Given the description of an element on the screen output the (x, y) to click on. 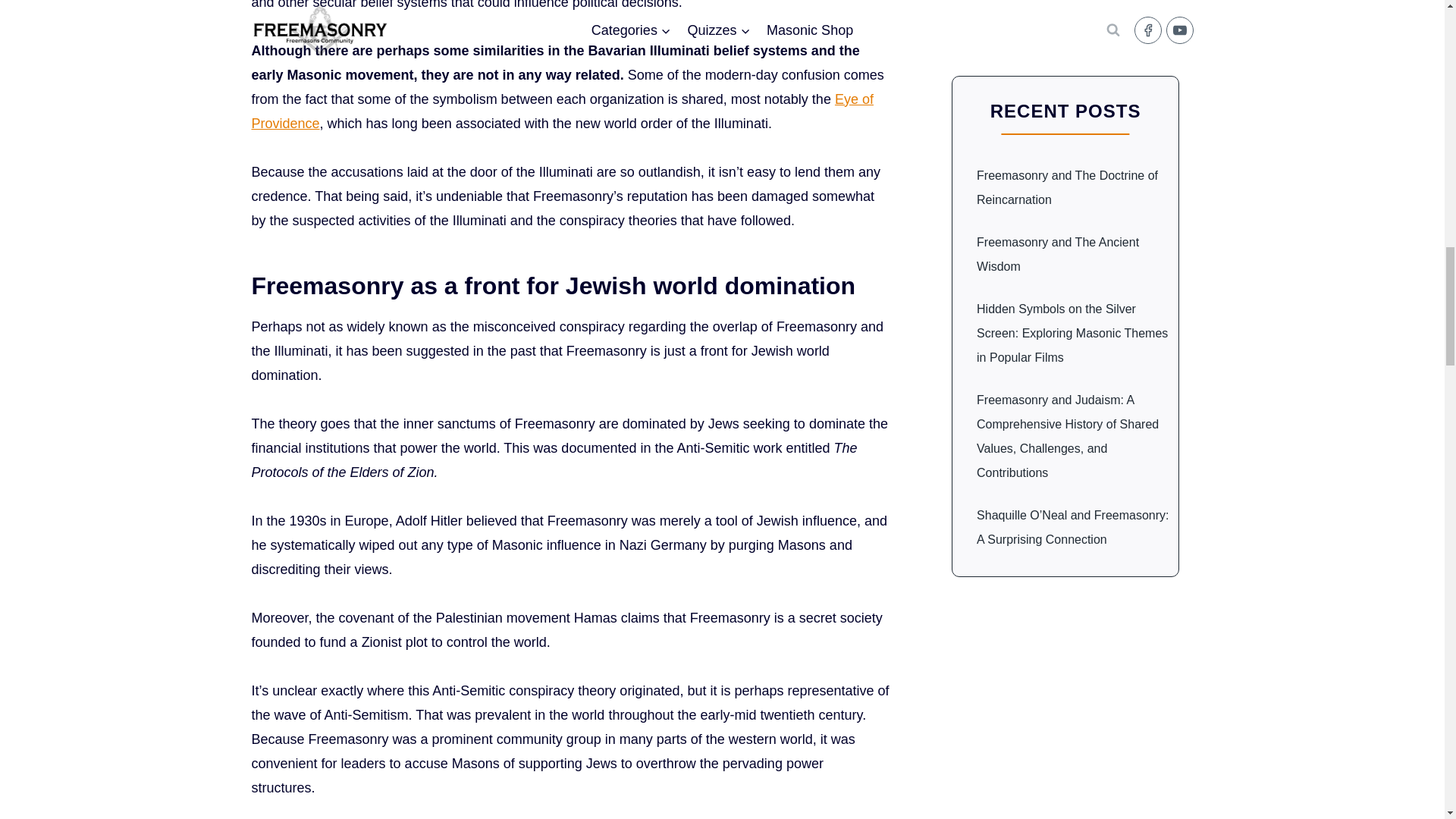
Eye of Providence (562, 111)
